Given the description of an element on the screen output the (x, y) to click on. 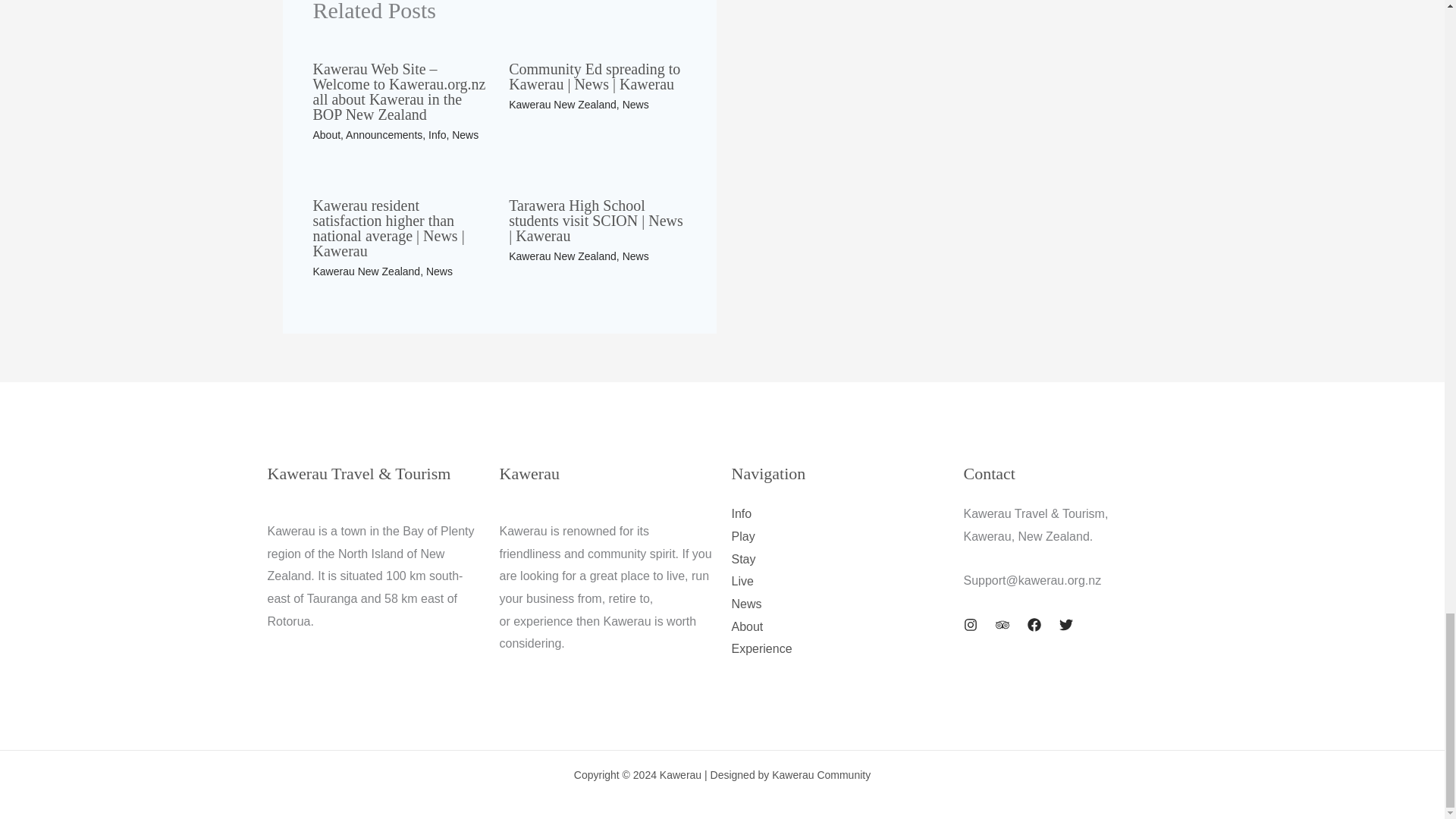
Info (436, 134)
About (326, 134)
Announcements (384, 134)
